Given the description of an element on the screen output the (x, y) to click on. 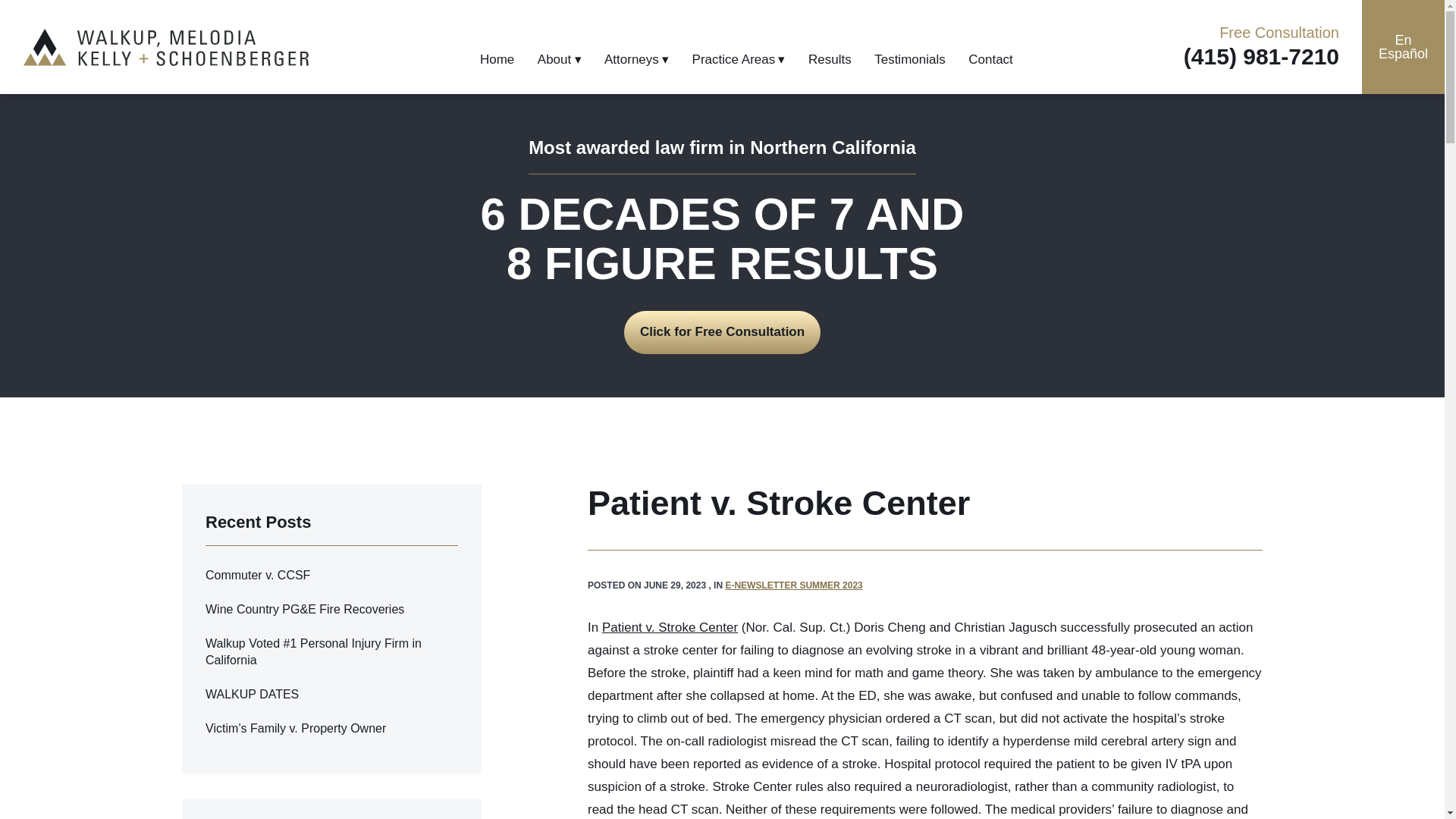
Phone (1261, 56)
Attorneys (636, 59)
Practice Areas (739, 59)
Home (496, 59)
About (558, 59)
